Given the description of an element on the screen output the (x, y) to click on. 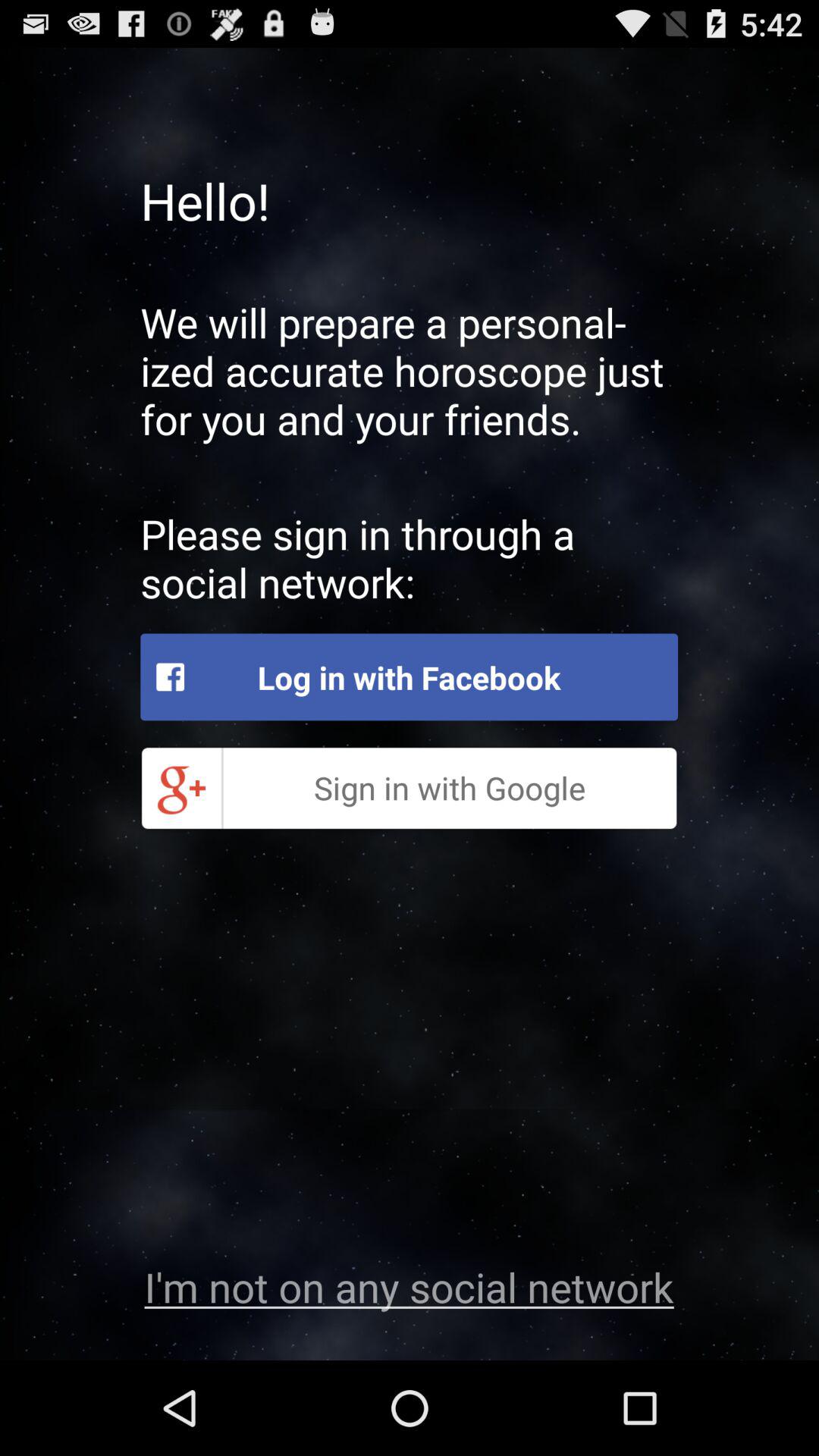
turn off the i m not (409, 1286)
